Given the description of an element on the screen output the (x, y) to click on. 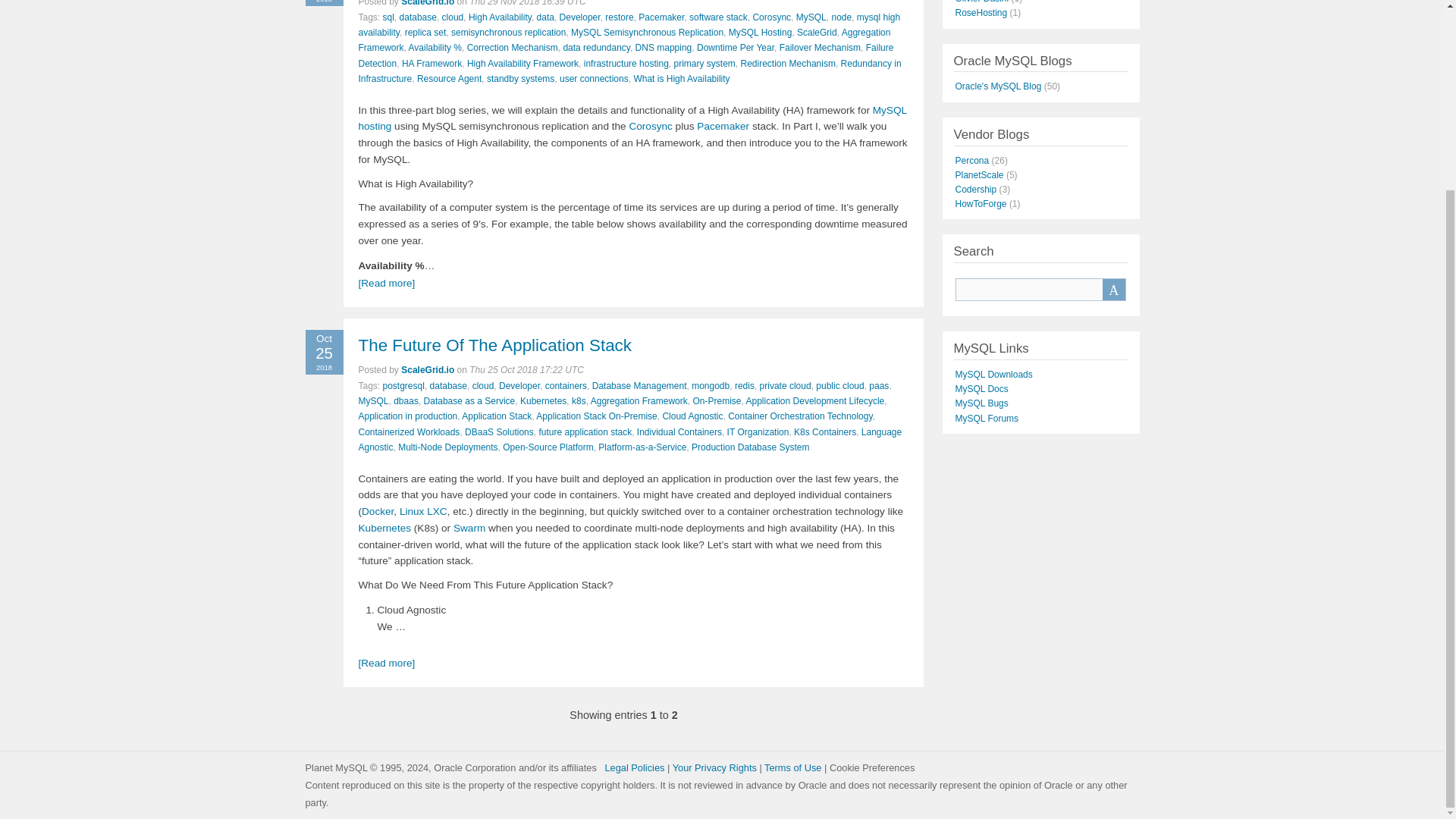
semisynchronous replication (508, 32)
MySQL Hosting (760, 32)
Pacemaker (661, 17)
High Availability (499, 17)
restore (619, 17)
database (417, 17)
mysql high availability (628, 24)
MySQL Semisynchronous Replication (646, 32)
Aggregation Framework (623, 40)
ScaleGrid (816, 32)
Corosync (771, 17)
MySQL (811, 17)
software stack (718, 17)
cloud (453, 17)
ScaleGrid.io (427, 3)
